Given the description of an element on the screen output the (x, y) to click on. 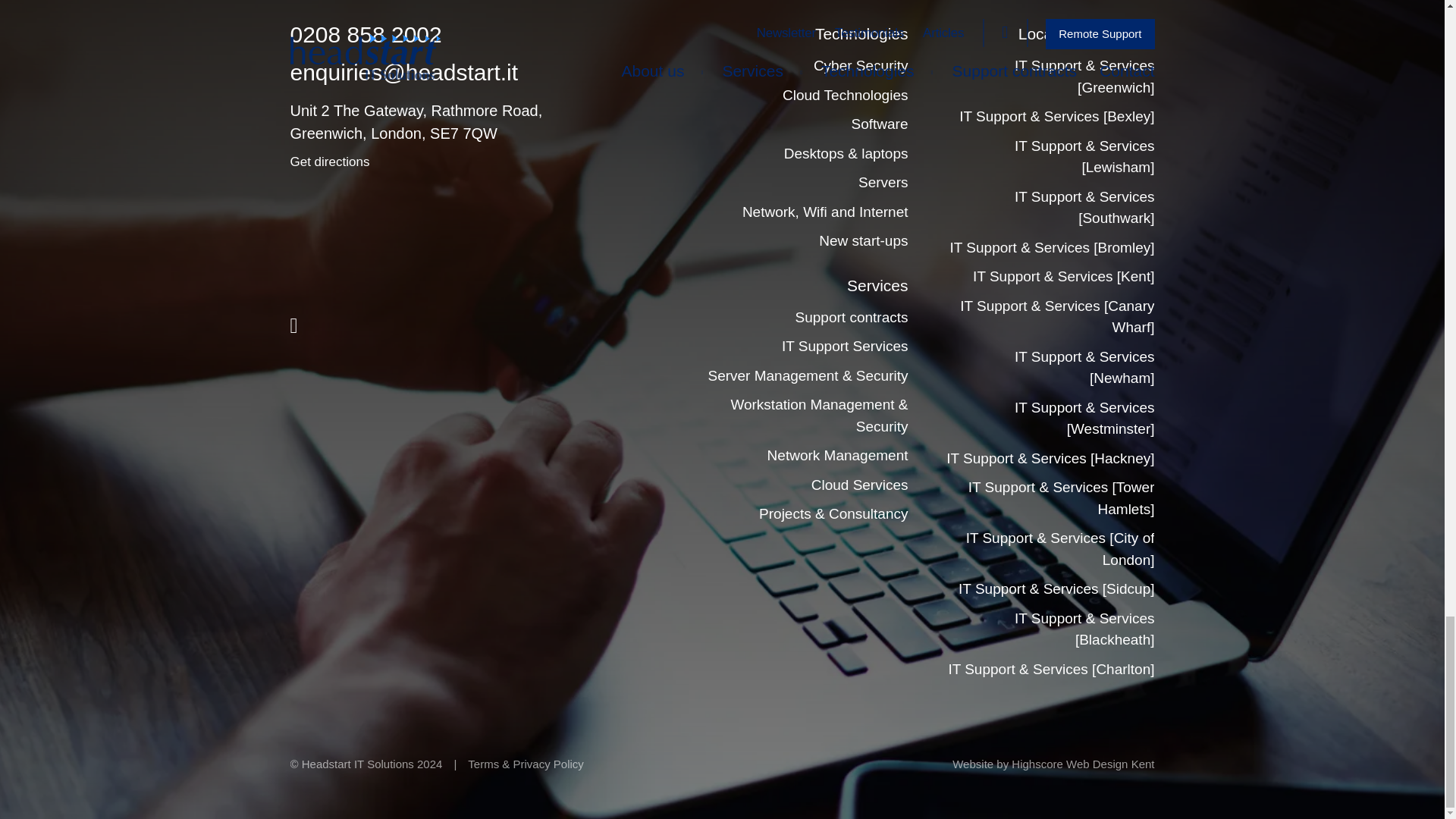
Web Design Kent (1109, 763)
